Given the description of an element on the screen output the (x, y) to click on. 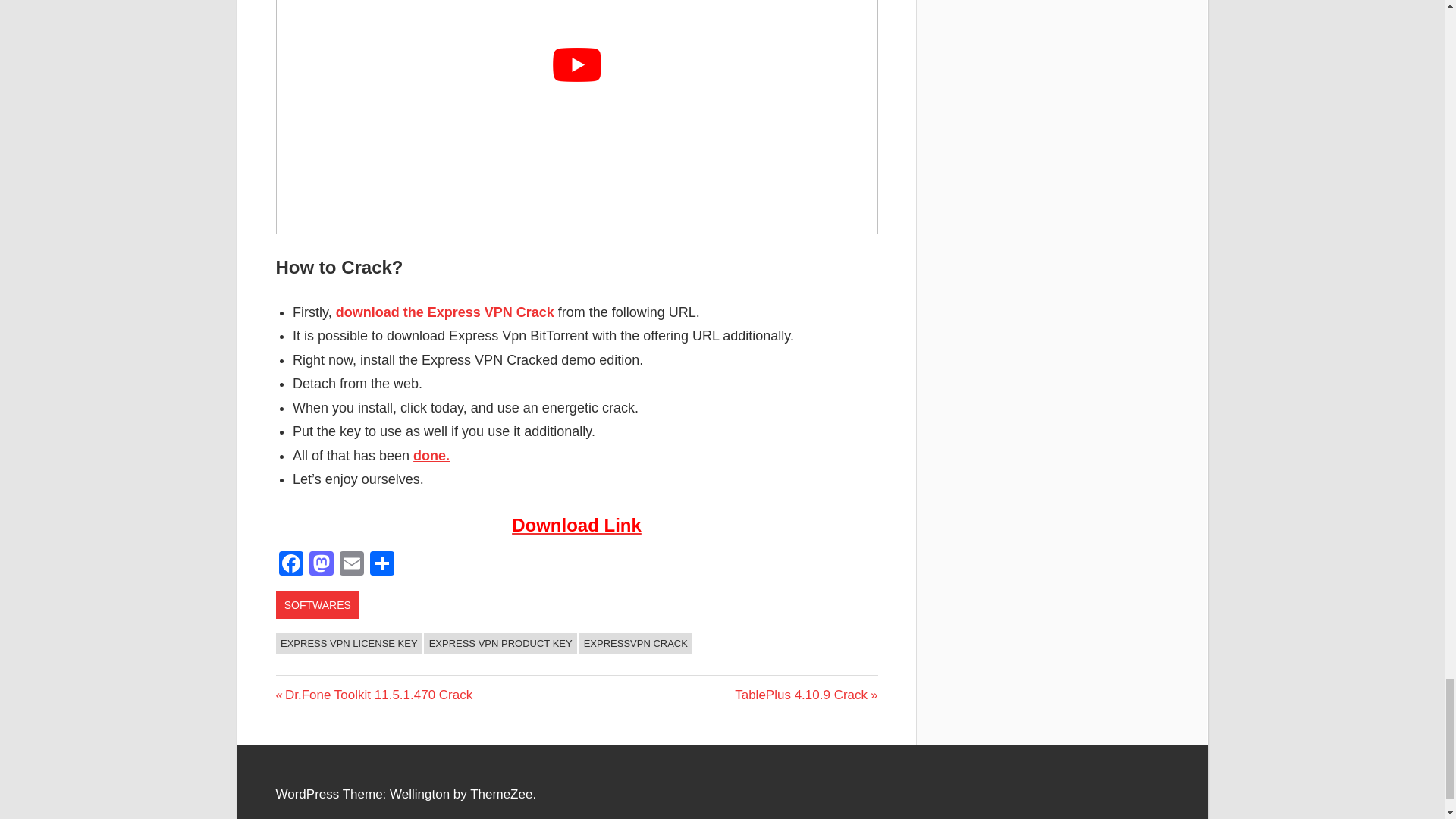
EXPRESS VPN PRODUCT KEY (499, 643)
Email (351, 565)
Facebook (290, 565)
download the Express VPN Crack (442, 312)
Facebook (290, 565)
SOFTWARES (317, 605)
Download Link (577, 525)
EXPRESS VPN LICENSE KEY (349, 643)
Mastodon (320, 565)
Email (351, 565)
done. (431, 455)
Mastodon (320, 565)
